Given the description of an element on the screen output the (x, y) to click on. 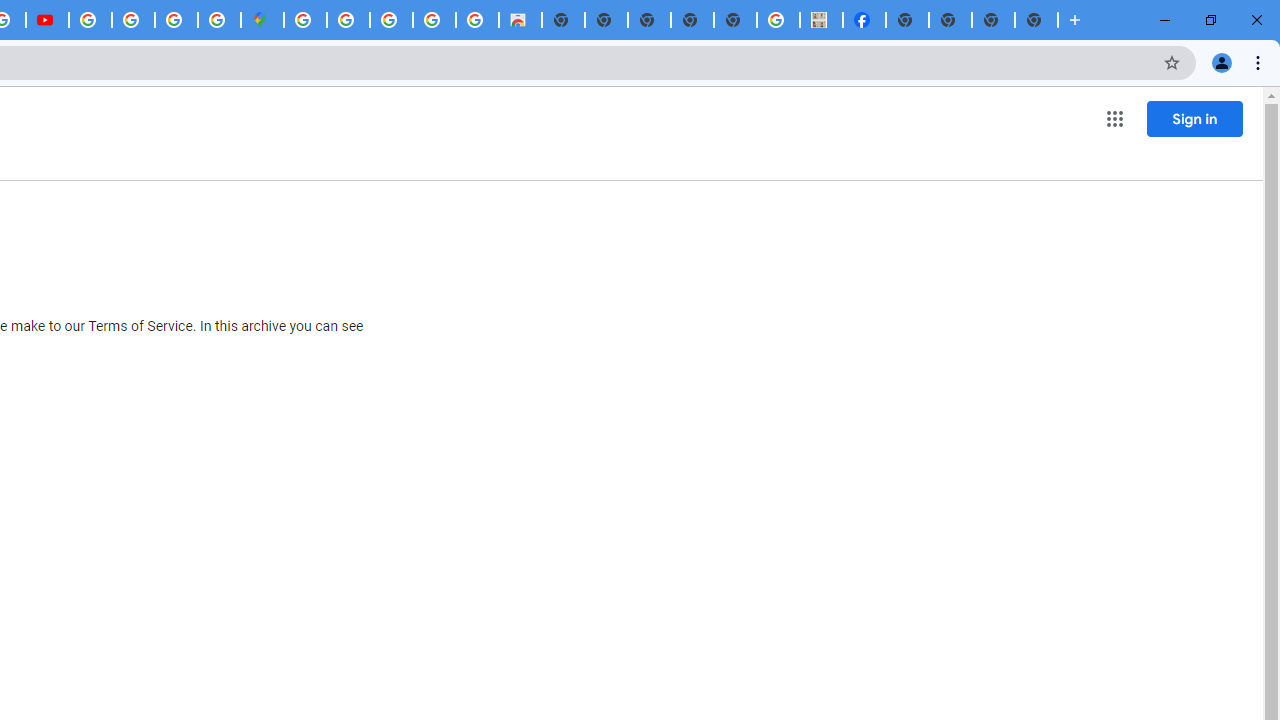
Subscriptions - YouTube (47, 20)
Miley Cyrus | Facebook (864, 20)
How Chrome protects your passwords - Google Chrome Help (90, 20)
Google Maps (262, 20)
New Tab (907, 20)
